Given the description of an element on the screen output the (x, y) to click on. 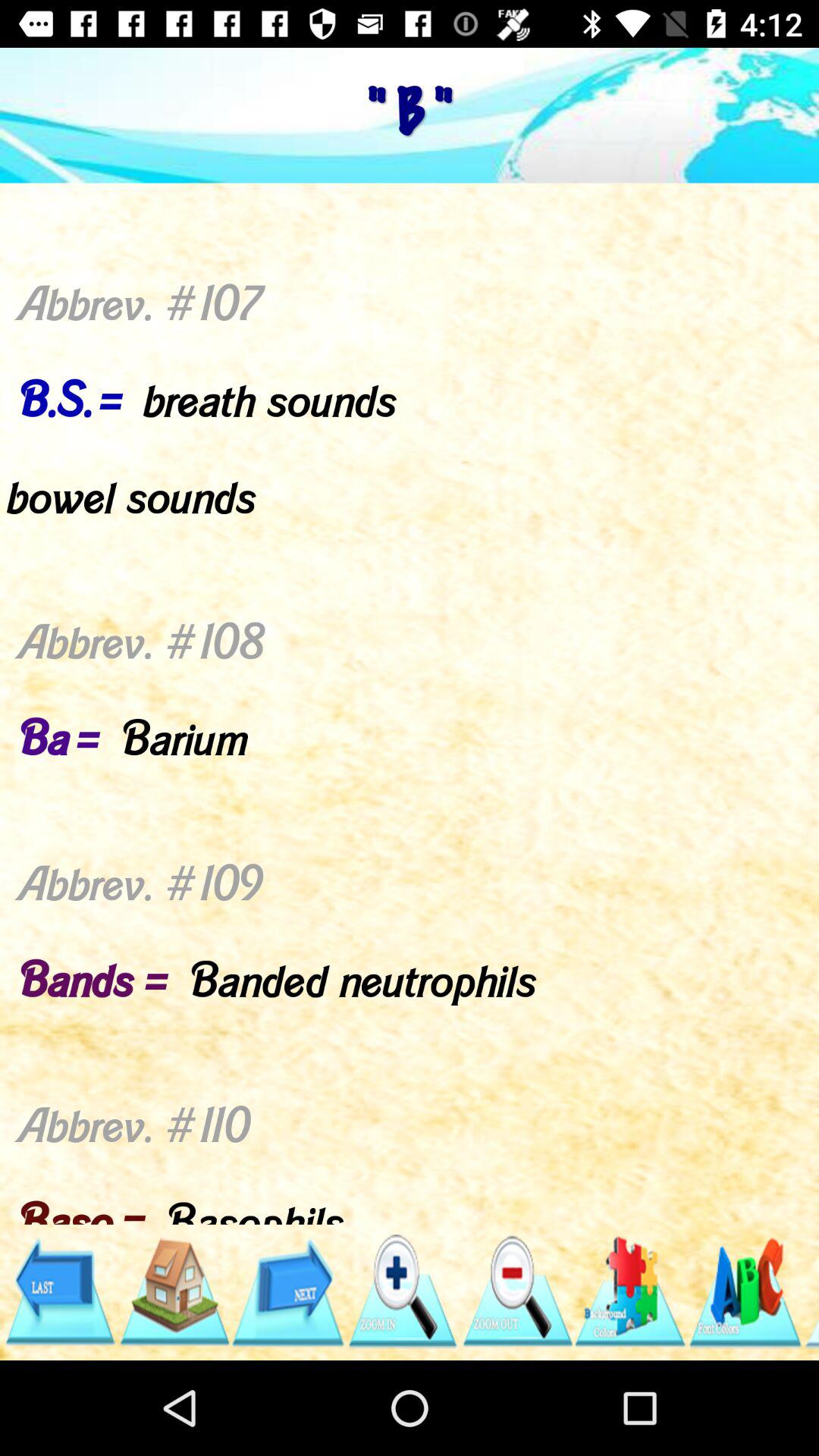
back (59, 1291)
